Given the description of an element on the screen output the (x, y) to click on. 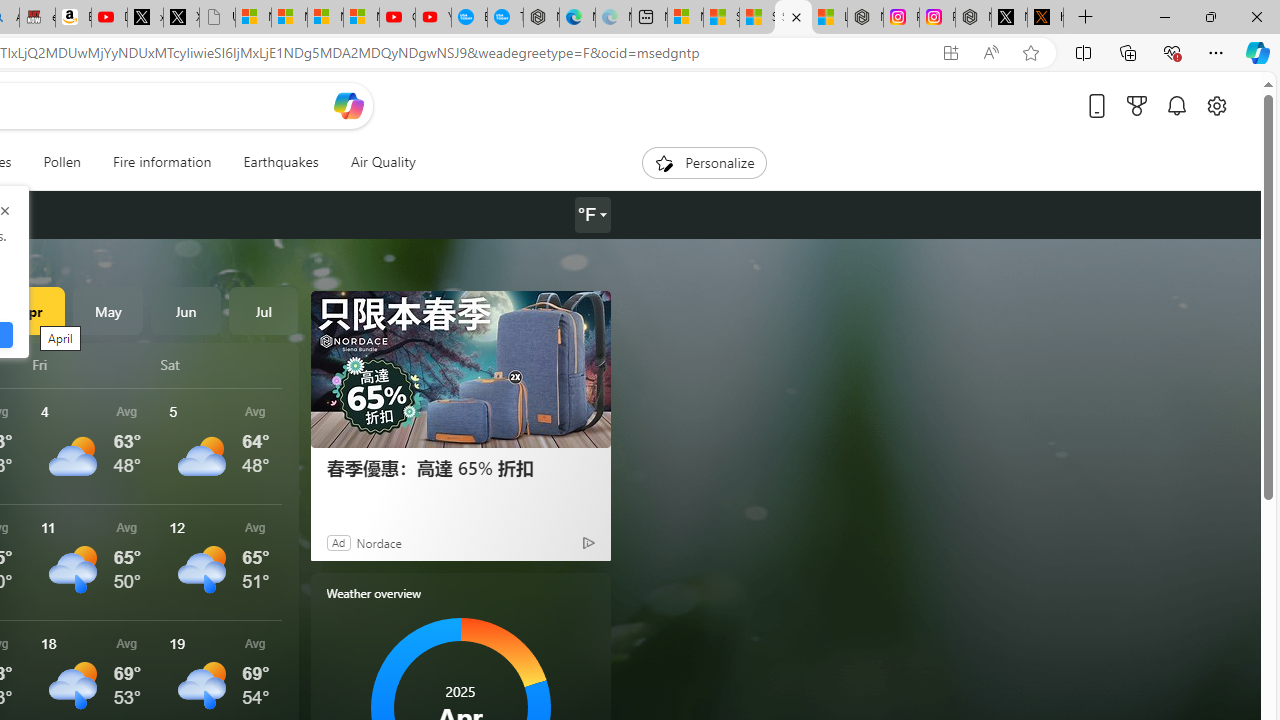
X (180, 17)
Gloom - YouTube (397, 17)
Personalize (703, 162)
Fri (93, 363)
Earthquakes (280, 162)
Jun (186, 310)
May (107, 310)
Air Quality (375, 162)
The most popular Google 'how to' searches (505, 17)
Sat (221, 363)
